Given the description of an element on the screen output the (x, y) to click on. 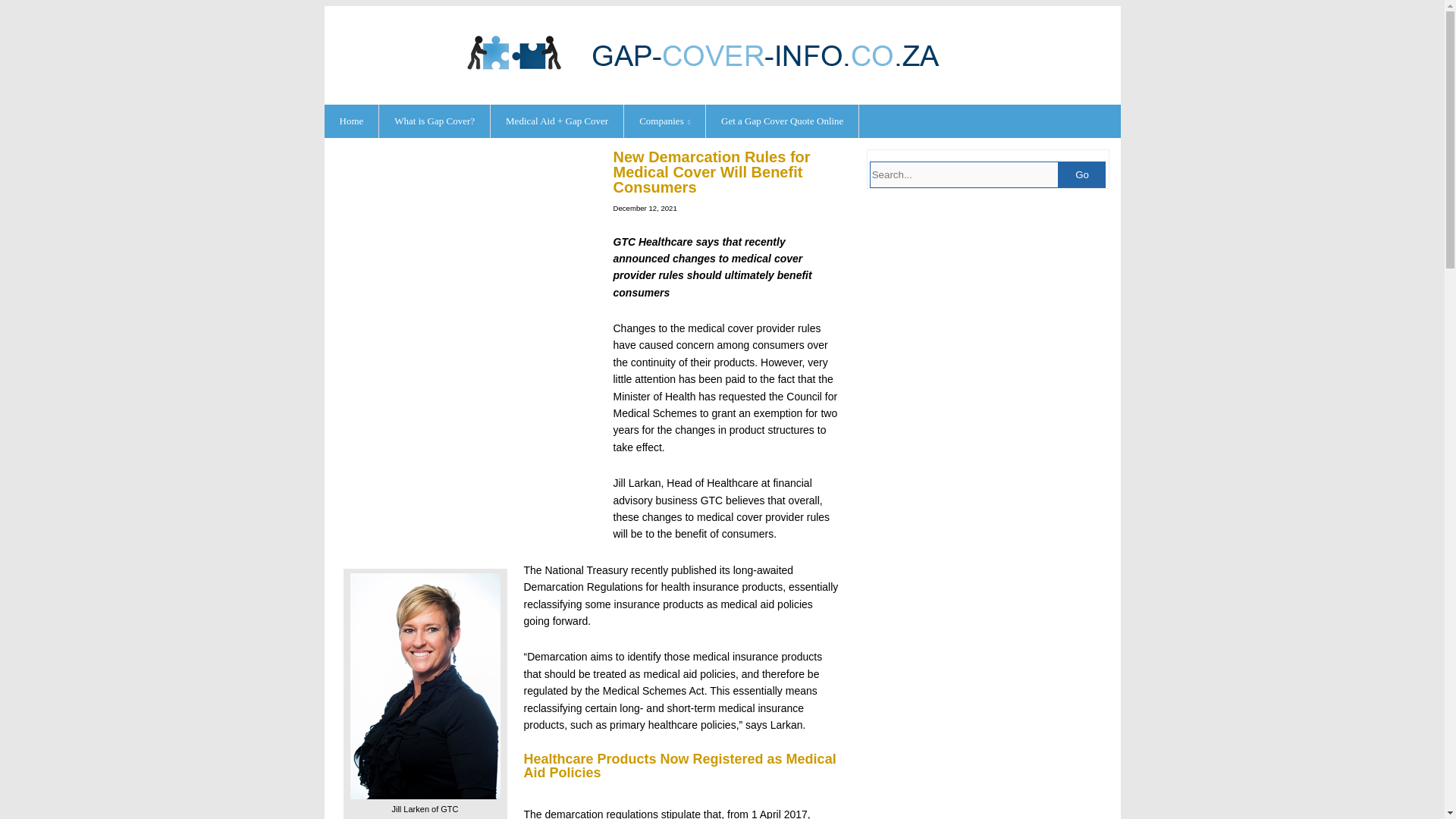
Companies (665, 121)
When You Need the Best Gap Cover (665, 121)
What is Gap Cover? (434, 121)
Medical Gap Cover is for Medical Aid Members (557, 121)
Gap Cover Info (722, 74)
Go (1081, 174)
Home (352, 121)
Go (1081, 174)
Get a Gap Cover Quote Online (782, 121)
